Given the description of an element on the screen output the (x, y) to click on. 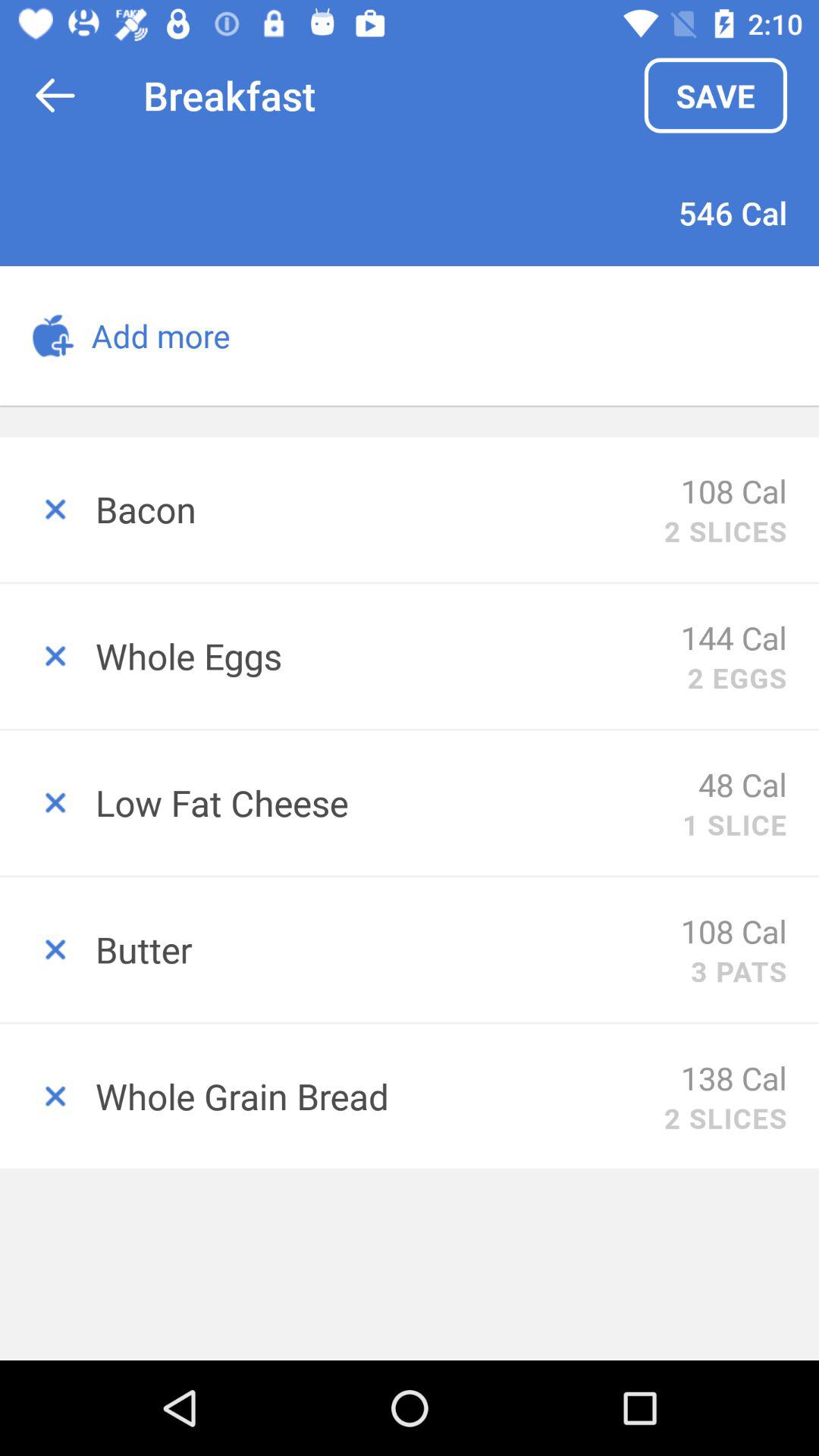
delete item from shopping list (47, 1096)
